Given the description of an element on the screen output the (x, y) to click on. 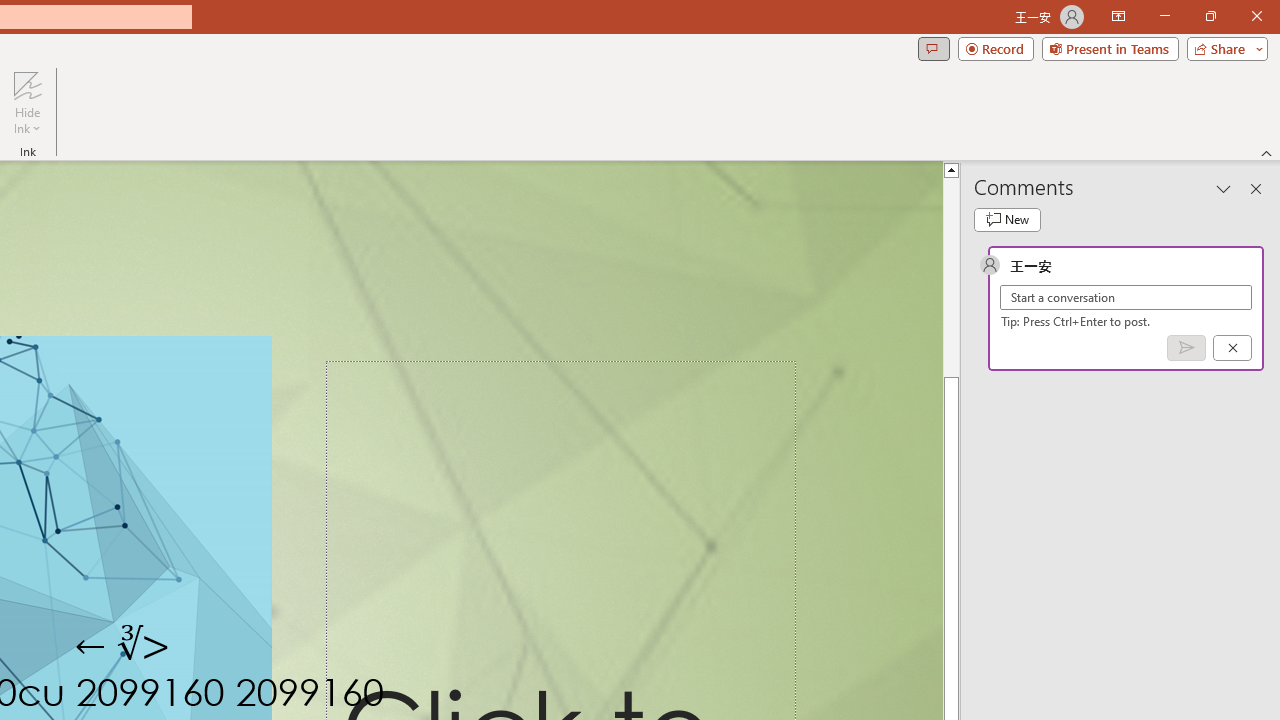
Cancel (1232, 347)
Page up (951, 237)
Post comment (Ctrl + Enter) (1186, 347)
TextBox 7 (123, 645)
Hide Ink (27, 84)
